Given the description of an element on the screen output the (x, y) to click on. 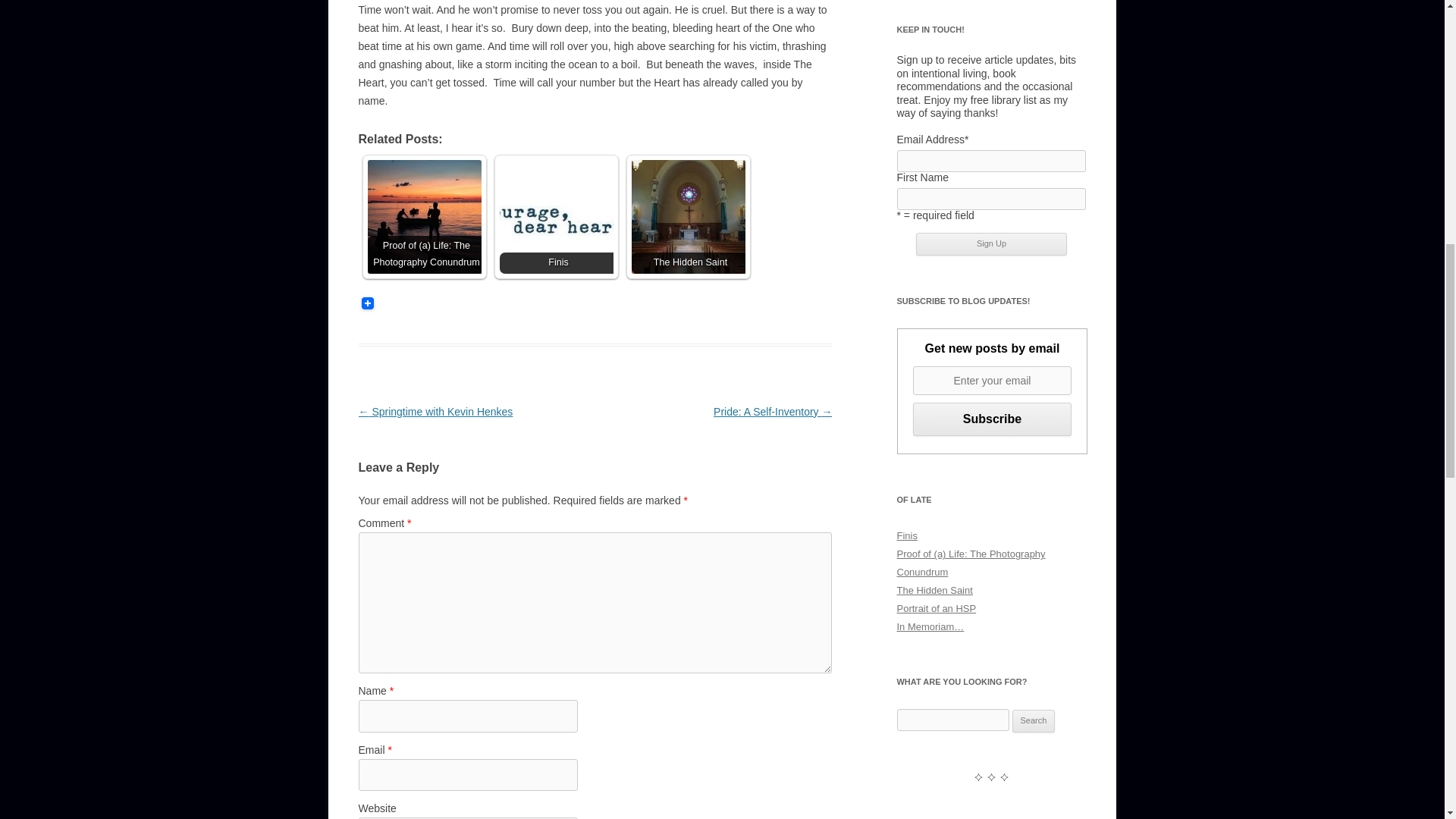
Sign Up (991, 243)
Sign Up (991, 243)
Finis (555, 216)
Search (1033, 721)
The Hidden Saint (687, 216)
Subscribe (991, 419)
Finis (906, 535)
Portrait of an HSP (935, 608)
Subscribe (991, 419)
Search (1033, 721)
